Given the description of an element on the screen output the (x, y) to click on. 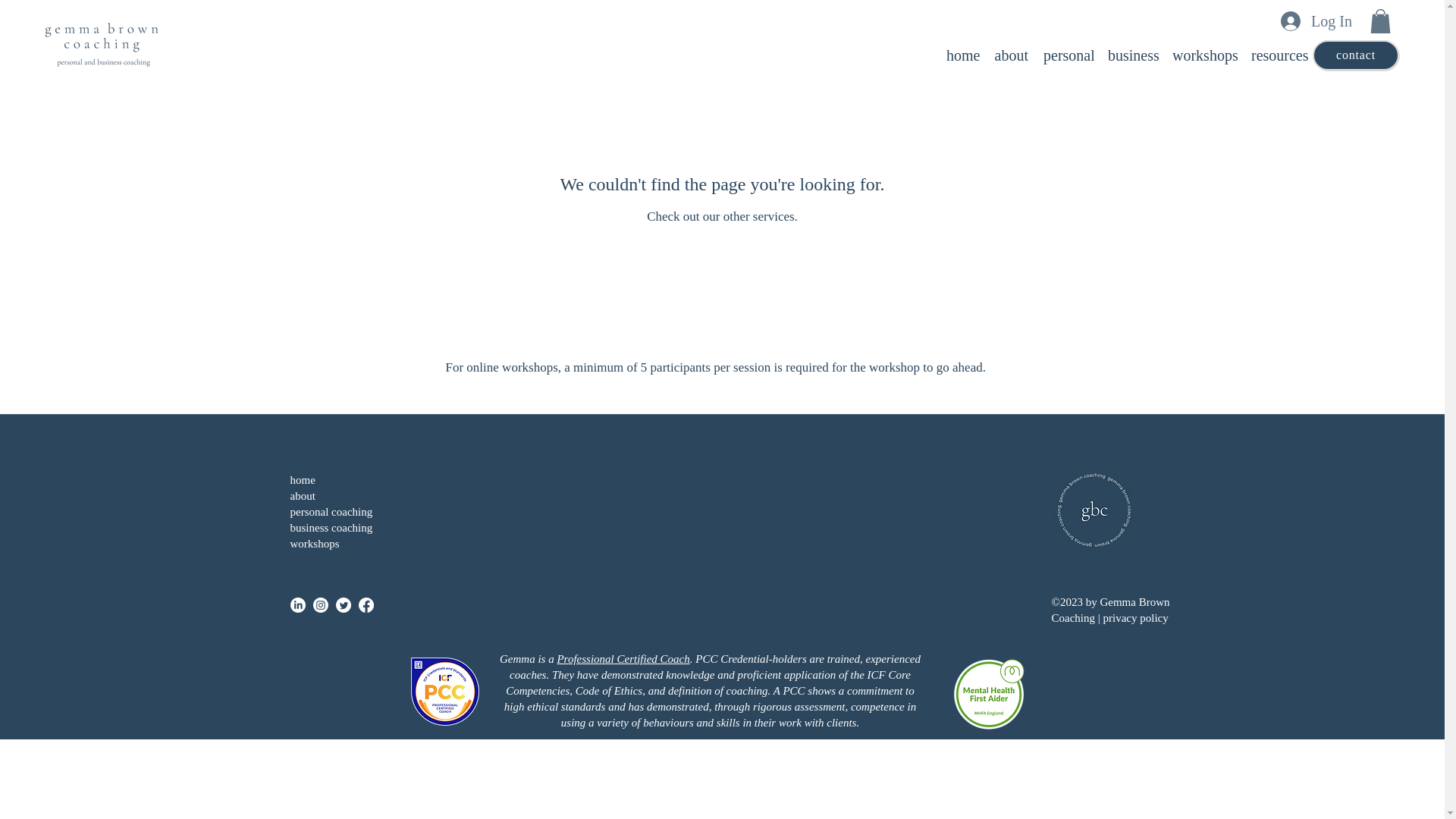
about (1011, 55)
home (301, 480)
personal (1067, 55)
workshops (314, 543)
workshops (1203, 55)
Professional Certified Coach (622, 658)
contact (1356, 55)
about (301, 495)
personal coaching (330, 511)
business coaching  (331, 527)
business (1132, 55)
Log In (1315, 20)
home (963, 55)
privacy policy (1134, 617)
